Given the description of an element on the screen output the (x, y) to click on. 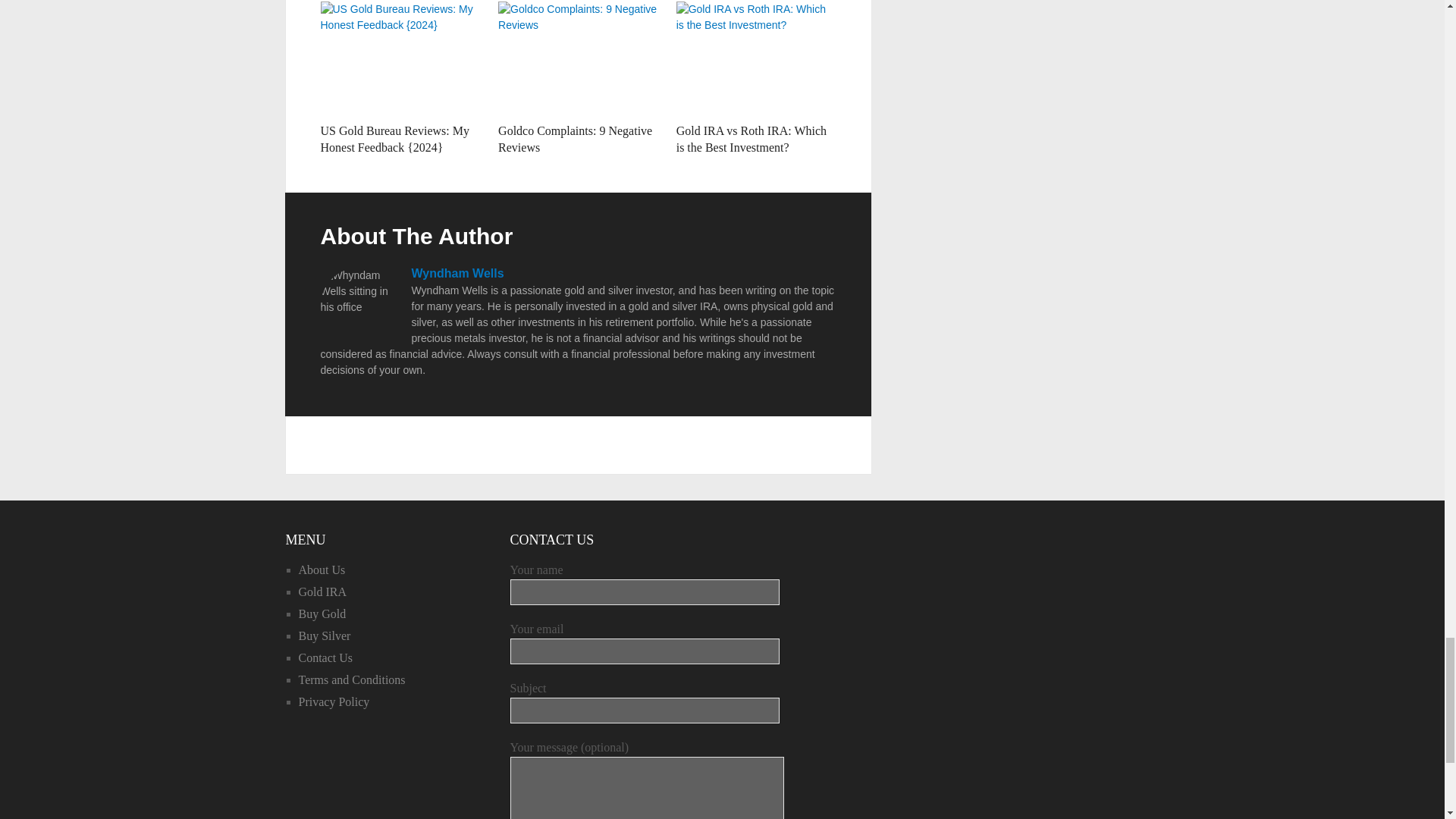
Goldco Complaints: 9 Negative Reviews (574, 138)
Goldco Complaints: 9 Negative Reviews (577, 58)
Wyndham Wells (456, 273)
Gold IRA vs Roth IRA: Which is the Best Investment? (752, 138)
